Given the description of an element on the screen output the (x, y) to click on. 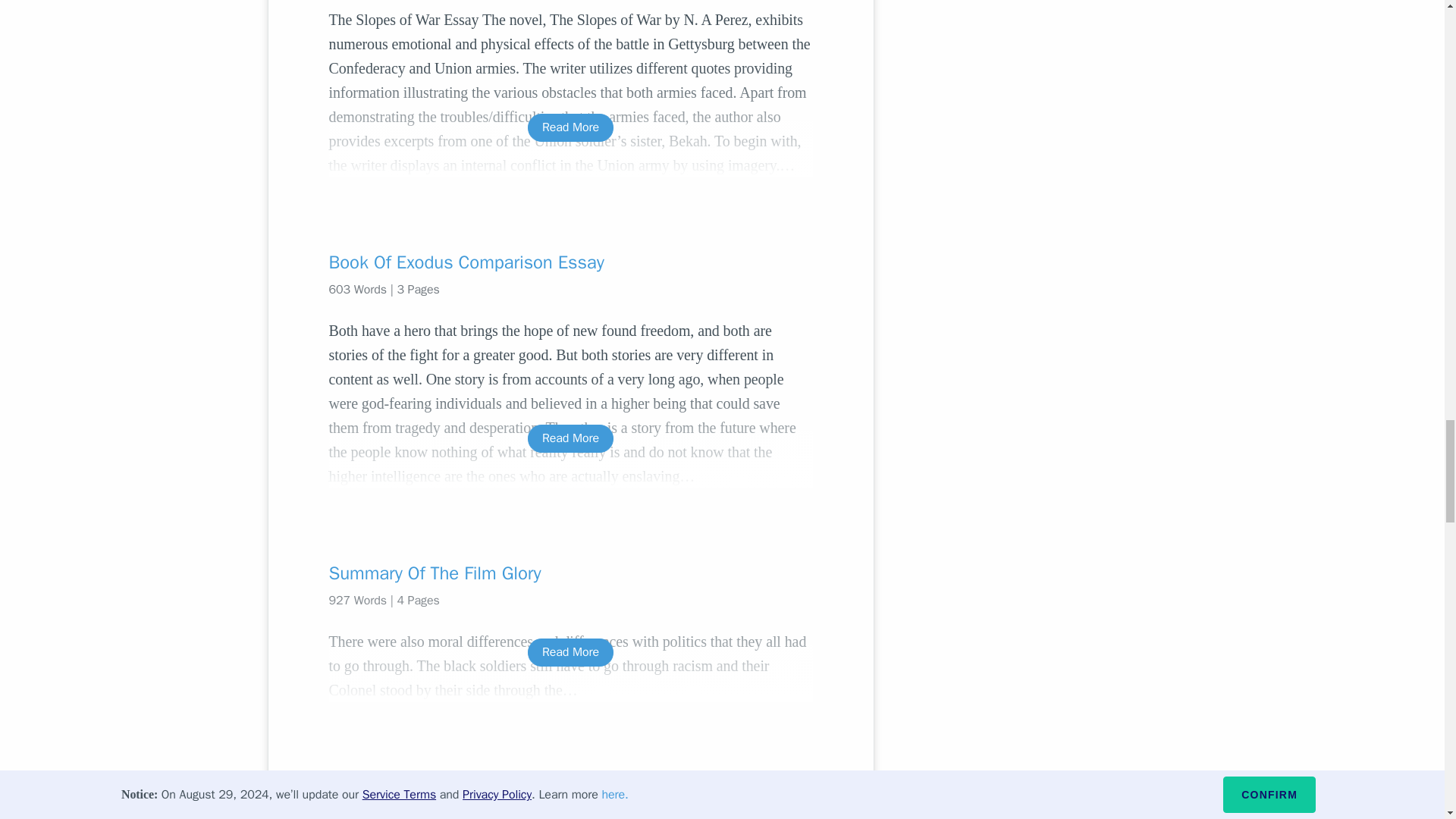
Civil War Tactics (570, 786)
Summary Of The Film Glory (570, 573)
Read More (569, 438)
Read More (569, 127)
Book Of Exodus Comparison Essay (570, 262)
Read More (569, 652)
